Given the description of an element on the screen output the (x, y) to click on. 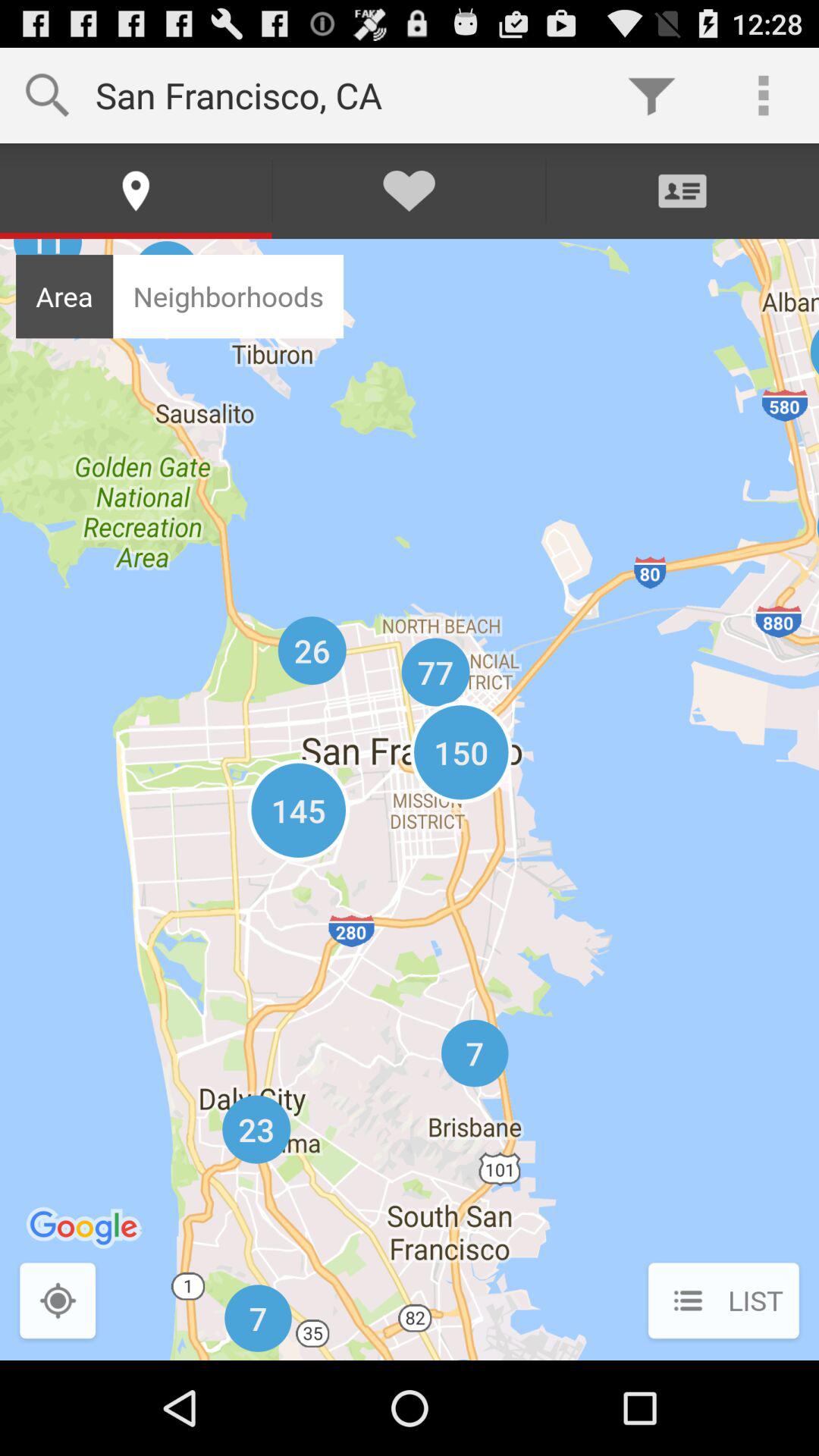
turn on area (64, 296)
